Given the description of an element on the screen output the (x, y) to click on. 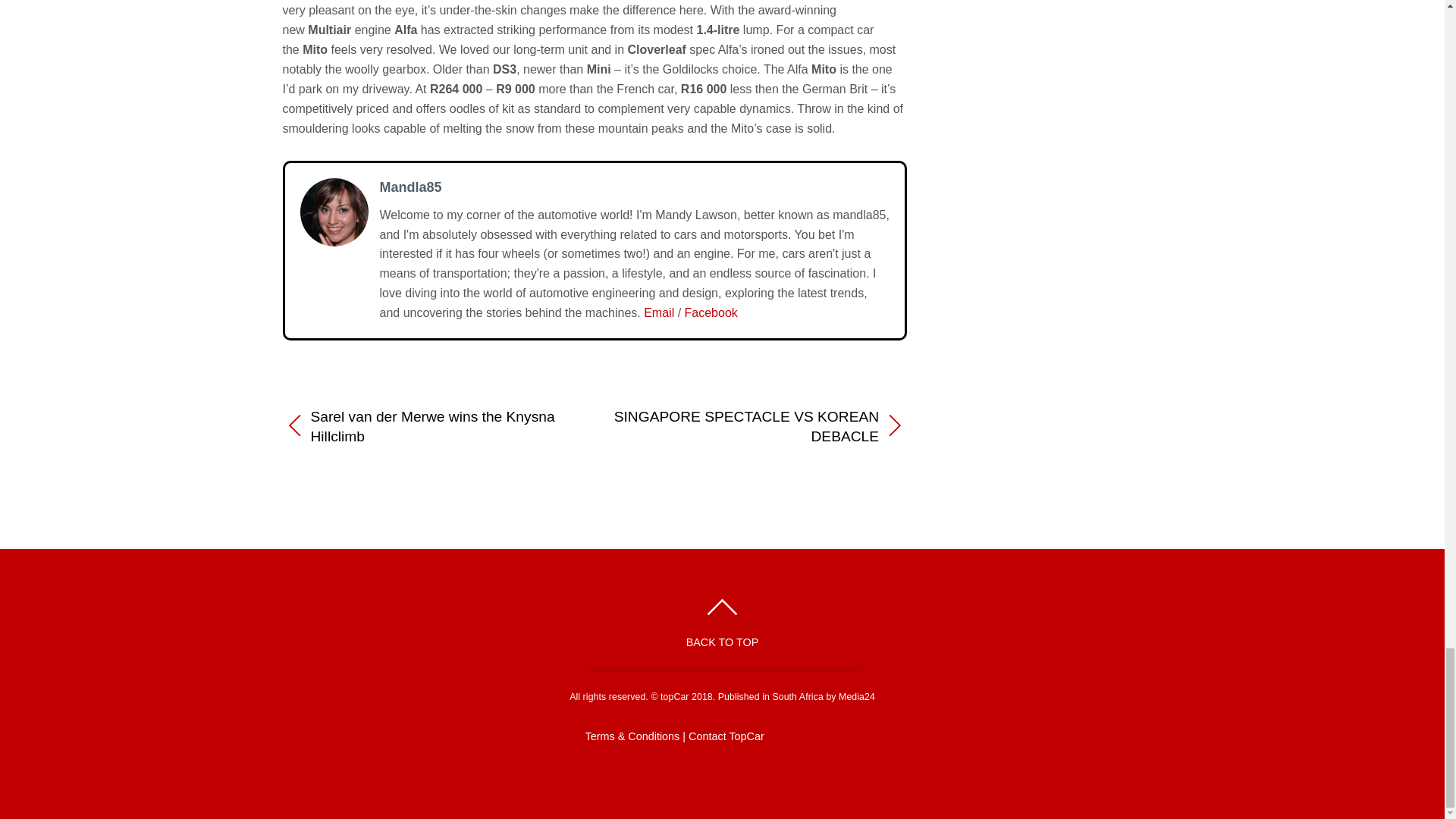
Mandla85 (409, 186)
Email (658, 312)
Facebook (711, 312)
